Given the description of an element on the screen output the (x, y) to click on. 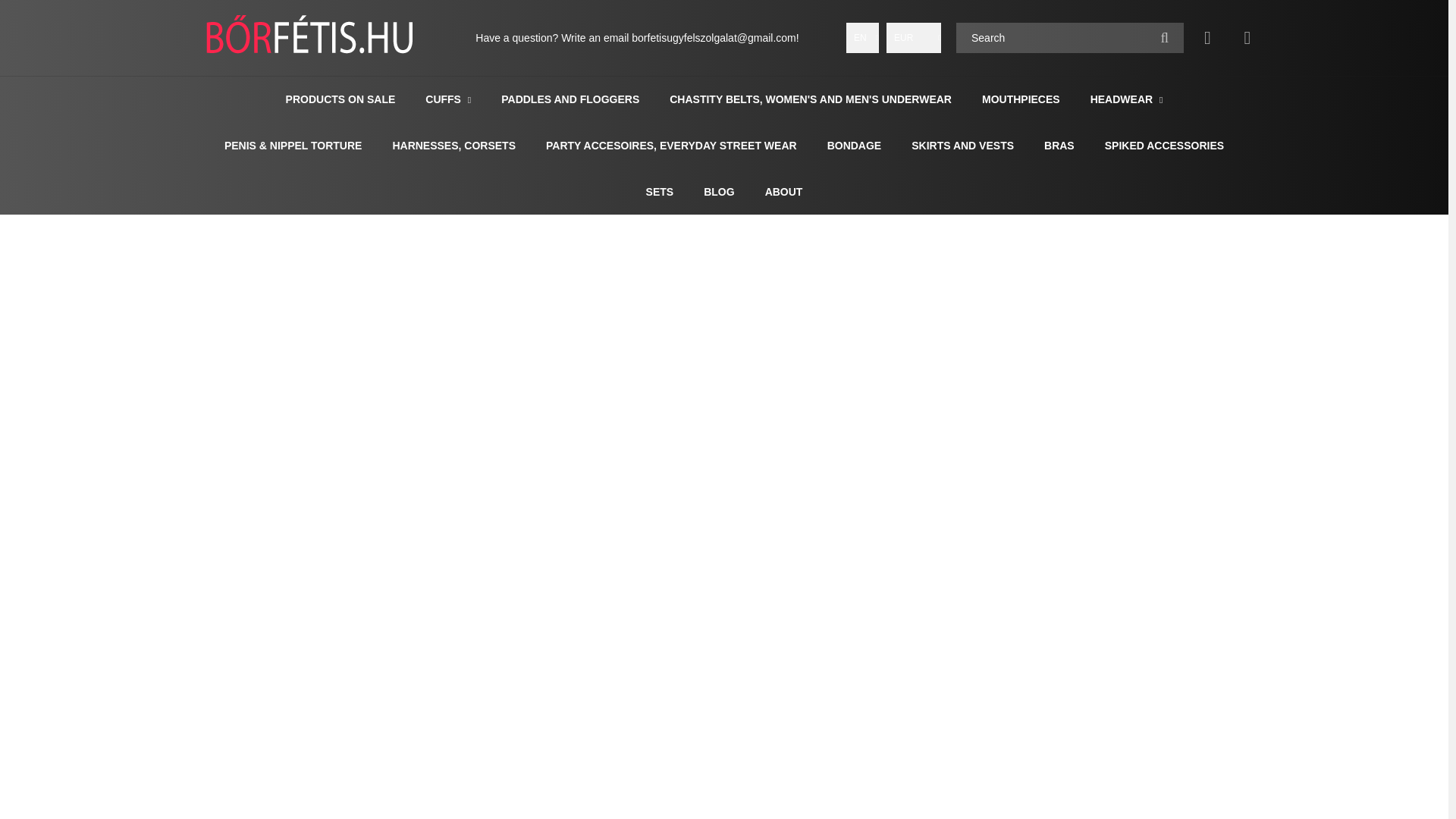
HEADWEAR (1123, 99)
BRAS (1058, 145)
Enter a longer search term! (1069, 37)
SPIKED ACCESSORIES (1164, 145)
BONDAGE (854, 145)
SETS (660, 191)
PADDLES AND FLOGGERS (569, 99)
BLOG (718, 191)
CUFFS (444, 99)
SKIRTS AND VESTS (962, 145)
